Given the description of an element on the screen output the (x, y) to click on. 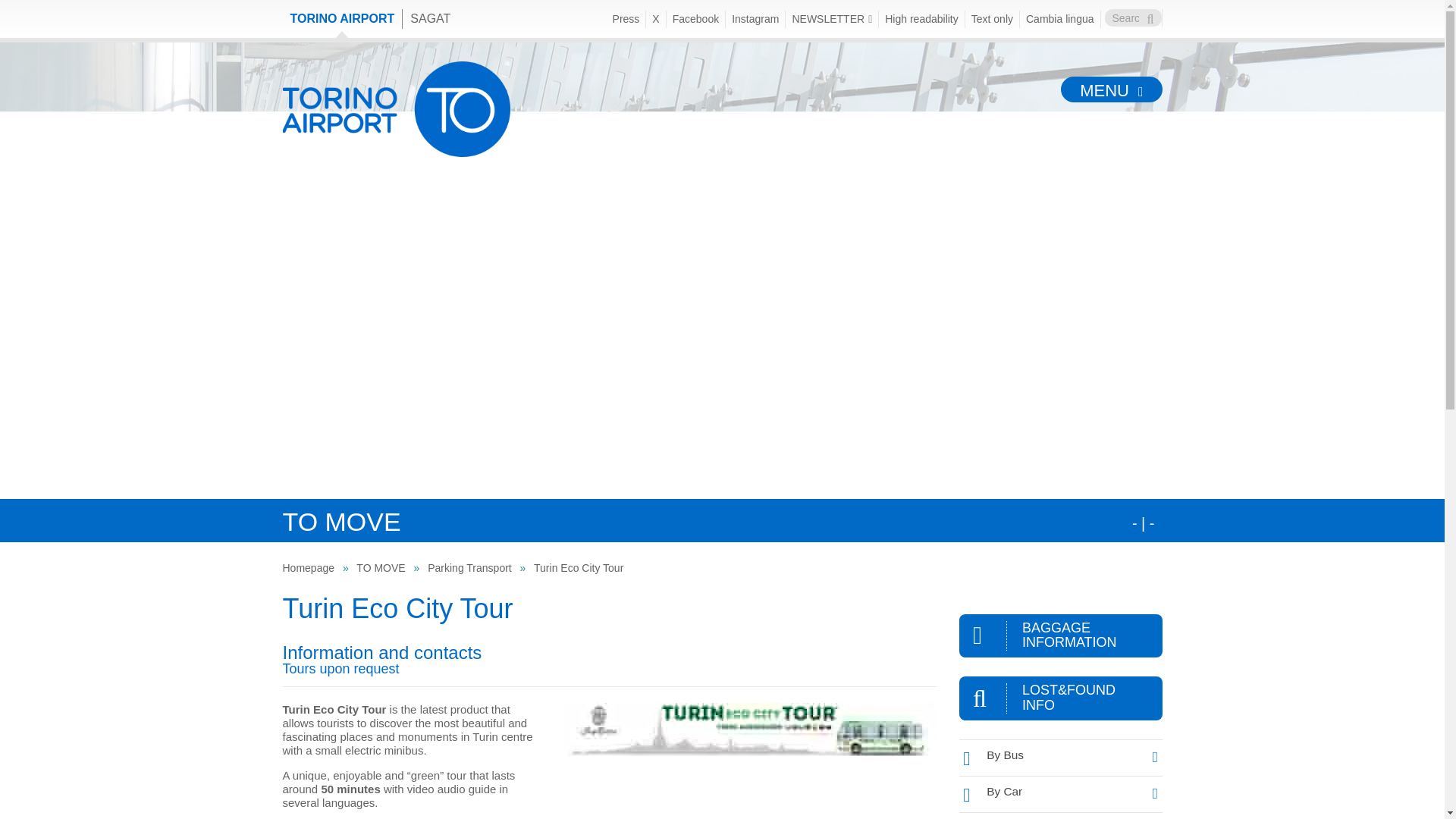
Facebook (695, 18)
Text only (992, 18)
Instagram (755, 18)
Cambia lingua (1060, 18)
MENU (1111, 89)
Twitter (655, 18)
SAGAT (430, 18)
TORINO AIRPORT (342, 18)
Facebook (695, 18)
NEWSLETTER (832, 18)
